Given the description of an element on the screen output the (x, y) to click on. 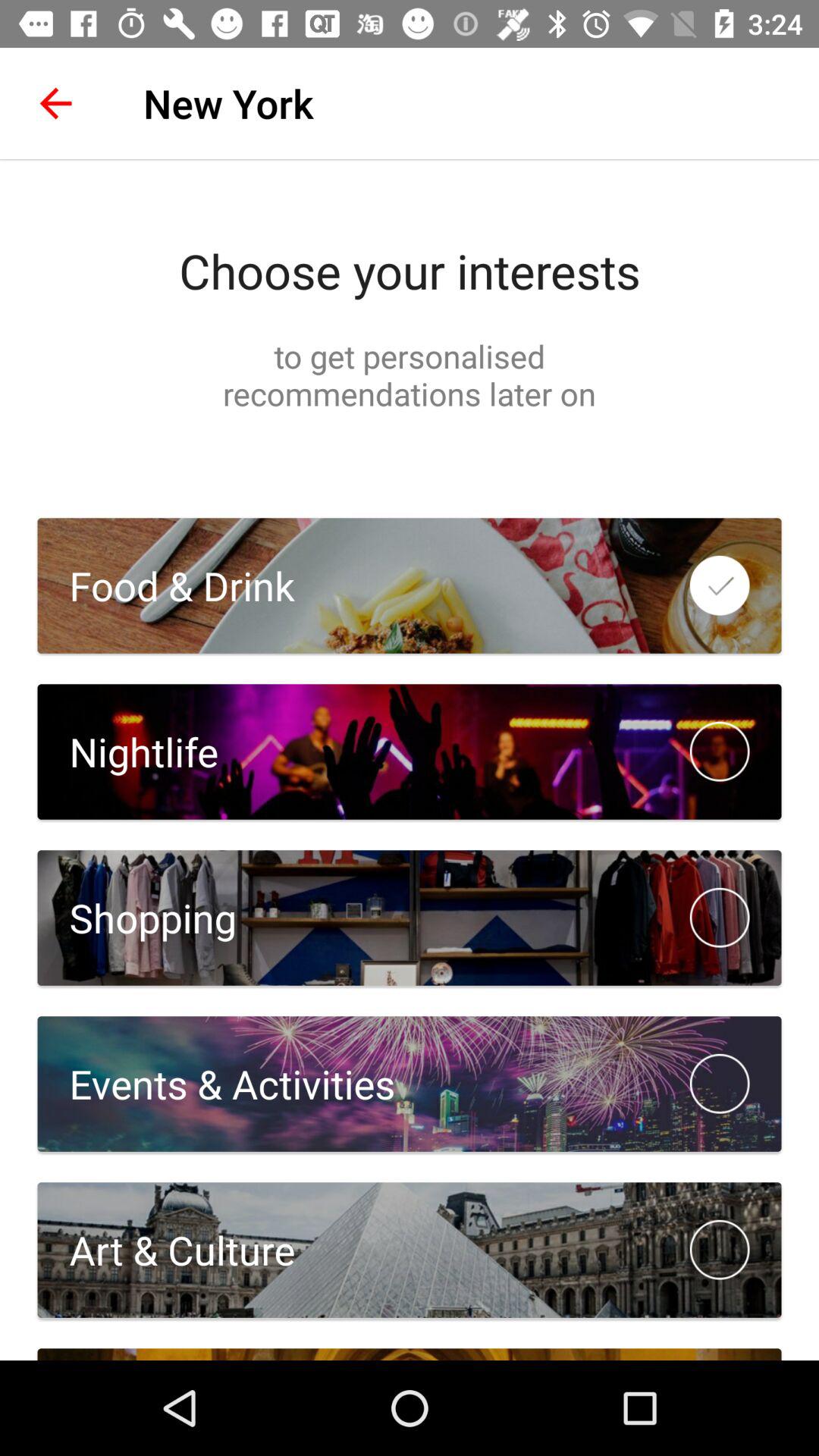
click icon next to the new york (55, 103)
